Given the description of an element on the screen output the (x, y) to click on. 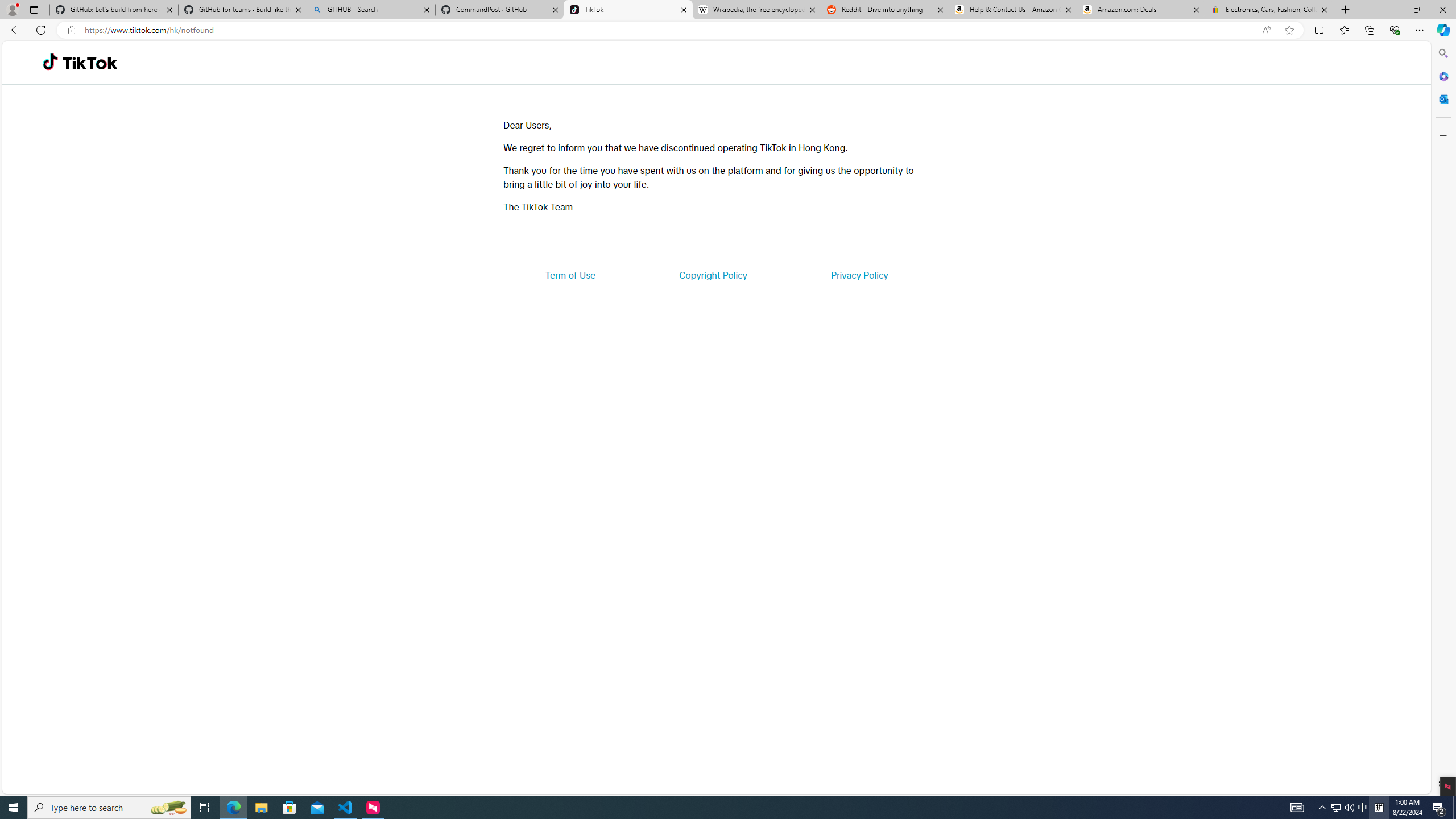
Wikipedia, the free encyclopedia (756, 9)
Term of Use (569, 274)
